Given the description of an element on the screen output the (x, y) to click on. 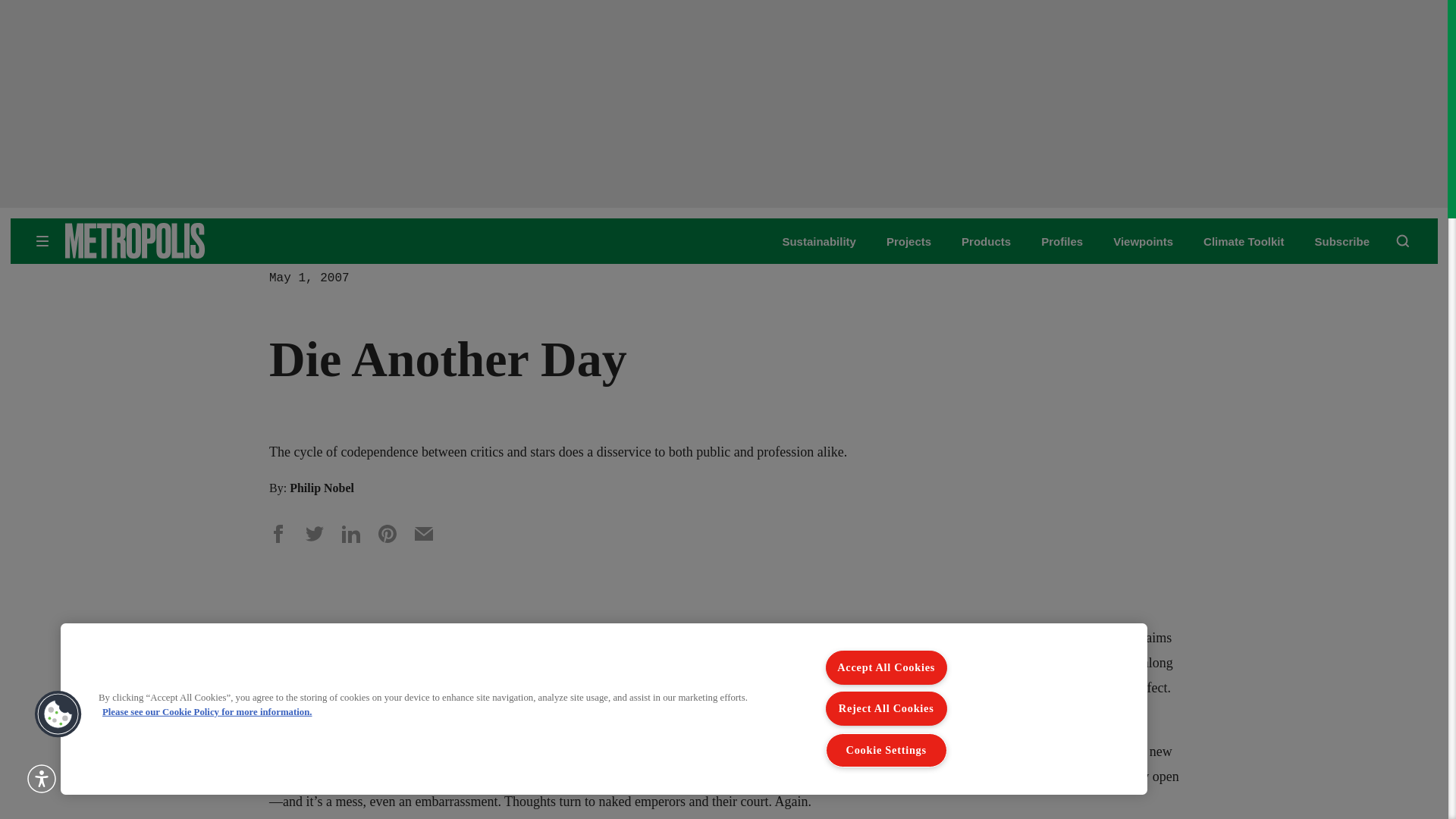
Cookies Button (57, 714)
Subscribe (1342, 241)
Profiles (1062, 241)
Climate Toolkit (1244, 241)
METROPOLIS (181, 240)
Viewpoints (1143, 241)
Projects (908, 241)
Products (985, 241)
Sustainability (818, 241)
